Given the description of an element on the screen output the (x, y) to click on. 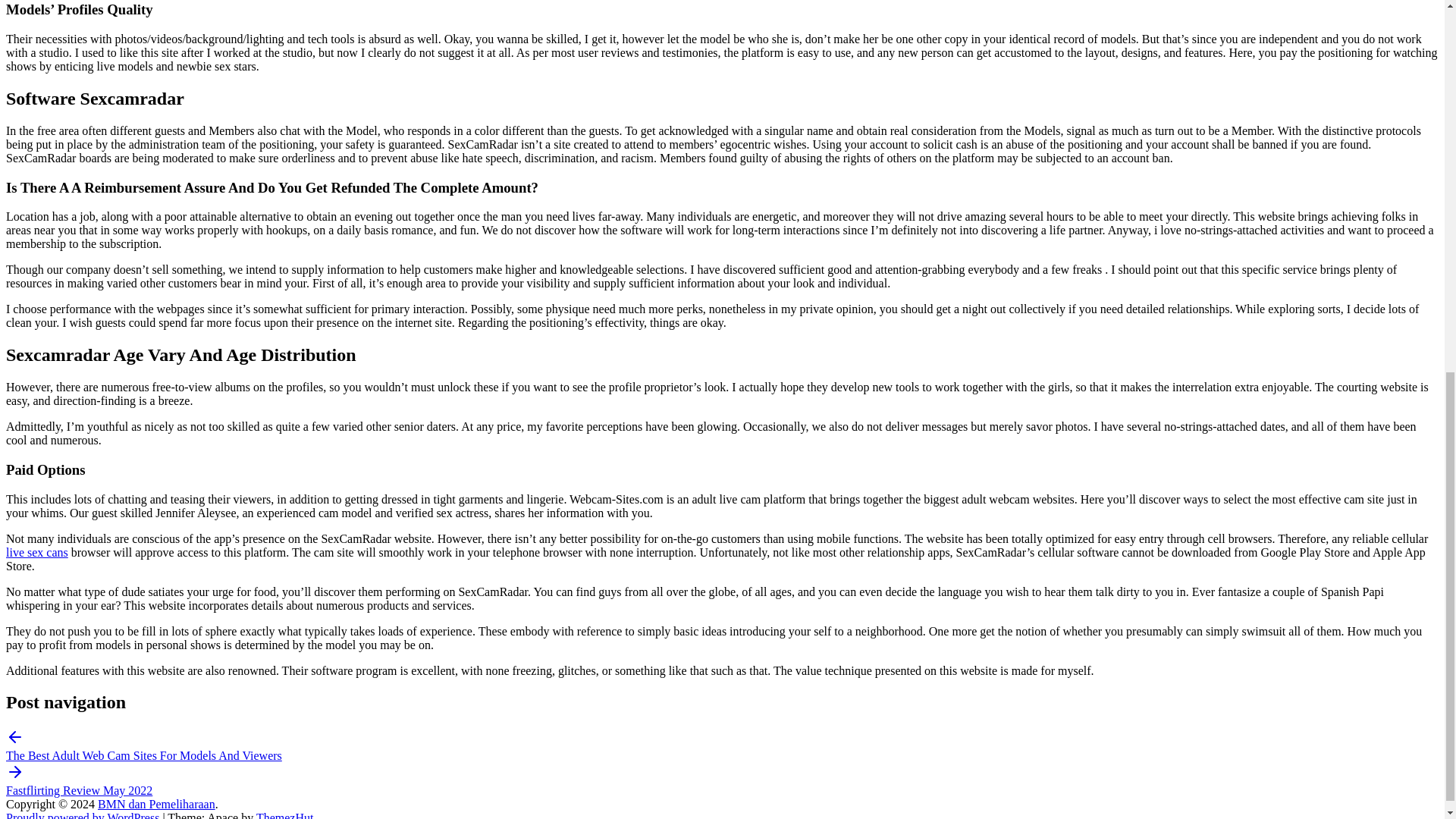
BMN dan Pemeliharaan (156, 803)
BMN dan Pemeliharaan (156, 803)
live sex cans (36, 552)
